Given the description of an element on the screen output the (x, y) to click on. 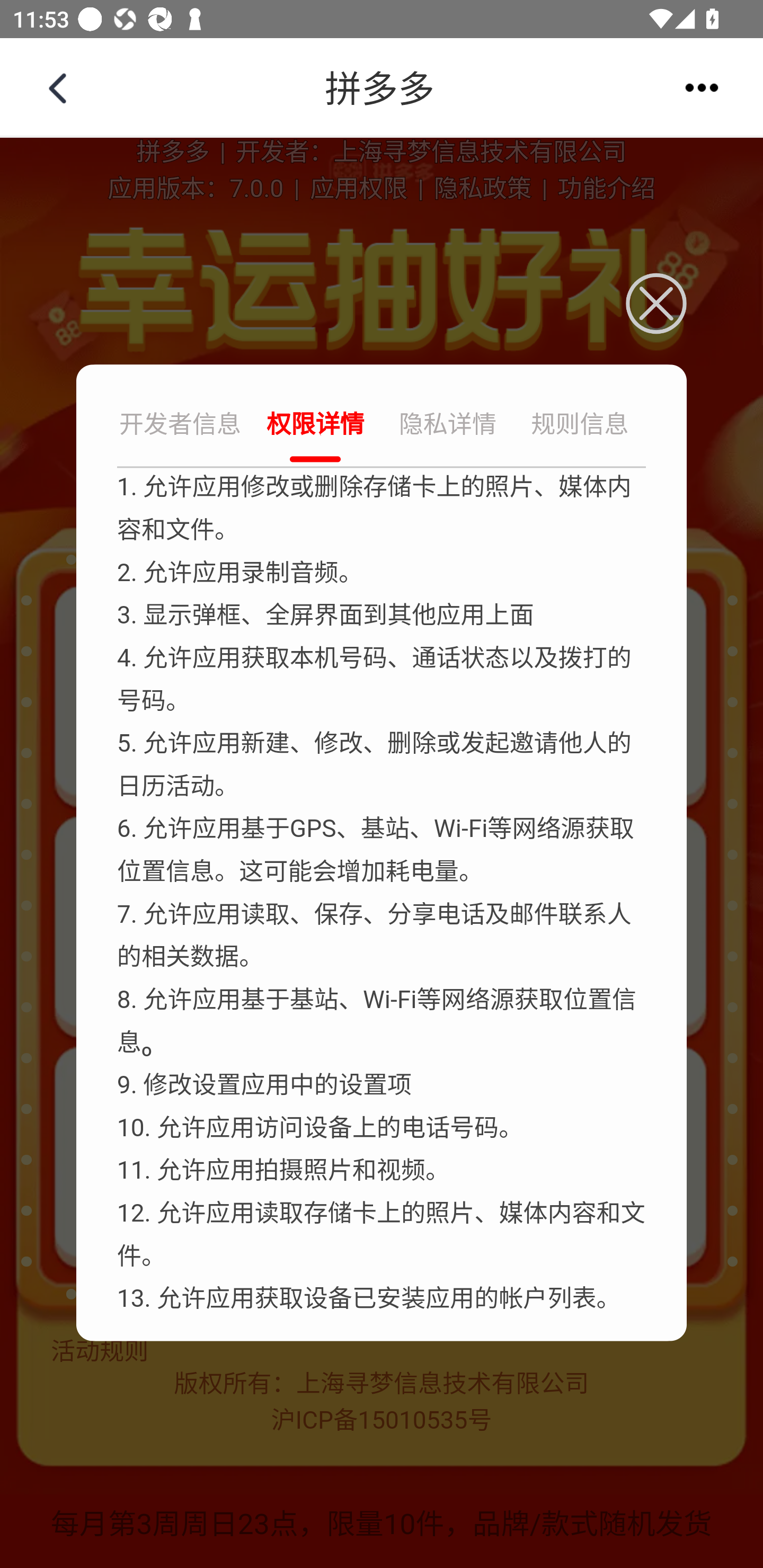
重播 (381, 87)
更多 (701, 86)
开发者信息  (182, 425)
权限详情 (315, 425)
隐私详情 (448, 425)
规则信息 (580, 425)
